Given the description of an element on the screen output the (x, y) to click on. 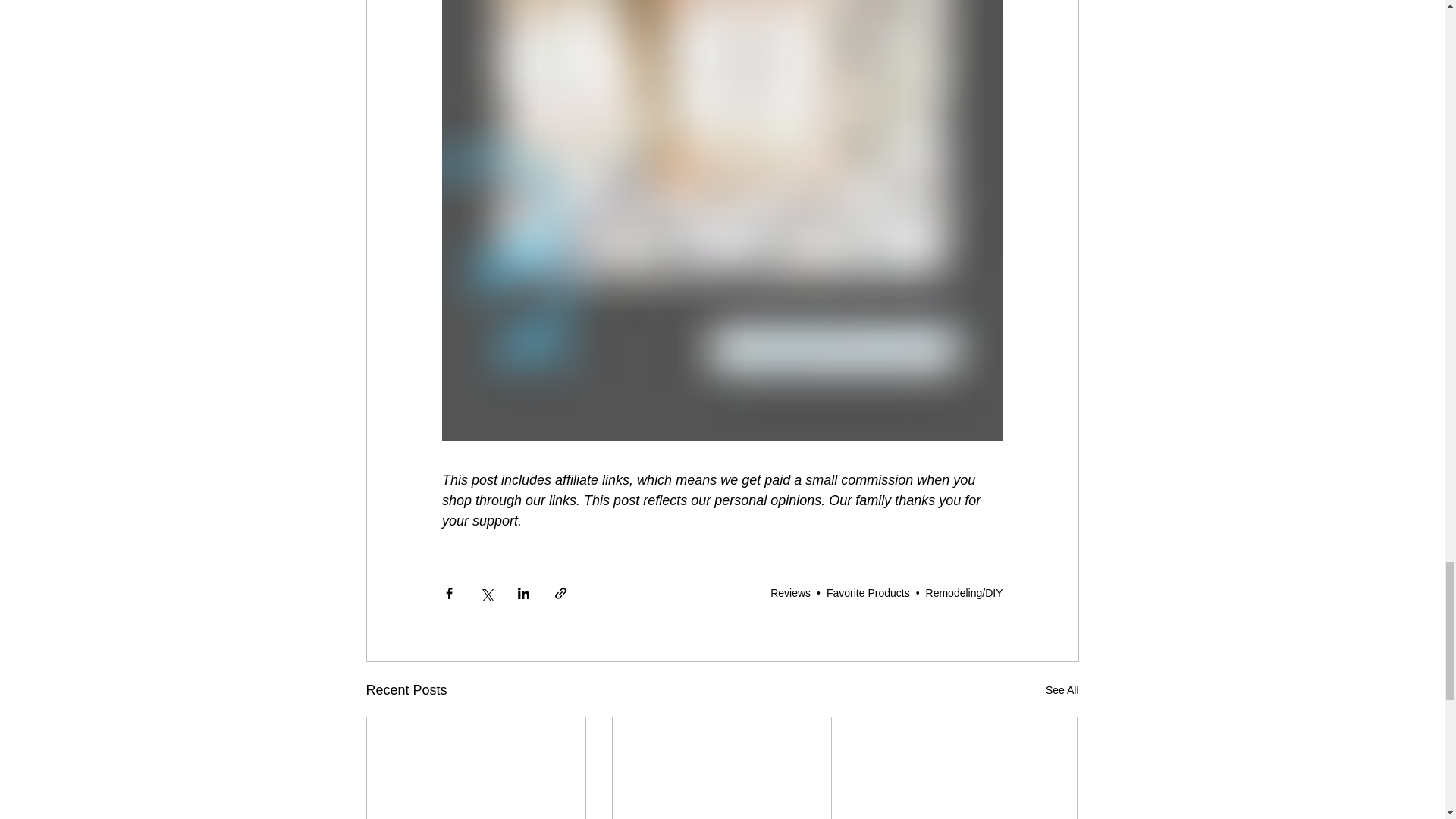
Reviews (790, 592)
See All (1061, 690)
Favorite Products (868, 592)
